Given the description of an element on the screen output the (x, y) to click on. 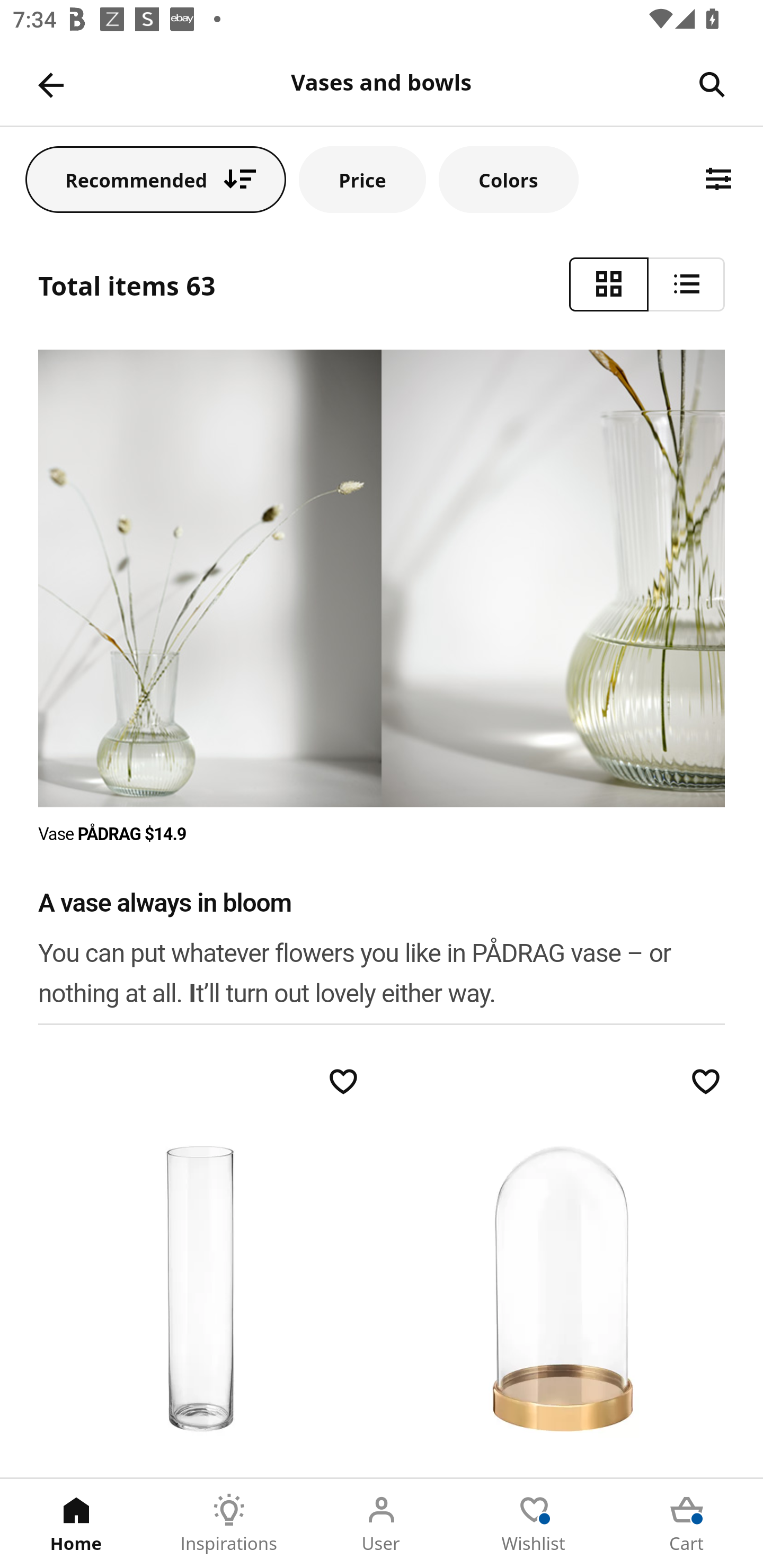
Recommended (155, 179)
Price (362, 179)
Colors (508, 179)
Vase PÅDRAG $14.9 (112, 834)
Home
Tab 1 of 5 (76, 1522)
Inspirations
Tab 2 of 5 (228, 1522)
User
Tab 3 of 5 (381, 1522)
Wishlist
Tab 4 of 5 (533, 1522)
Cart
Tab 5 of 5 (686, 1522)
